Given the description of an element on the screen output the (x, y) to click on. 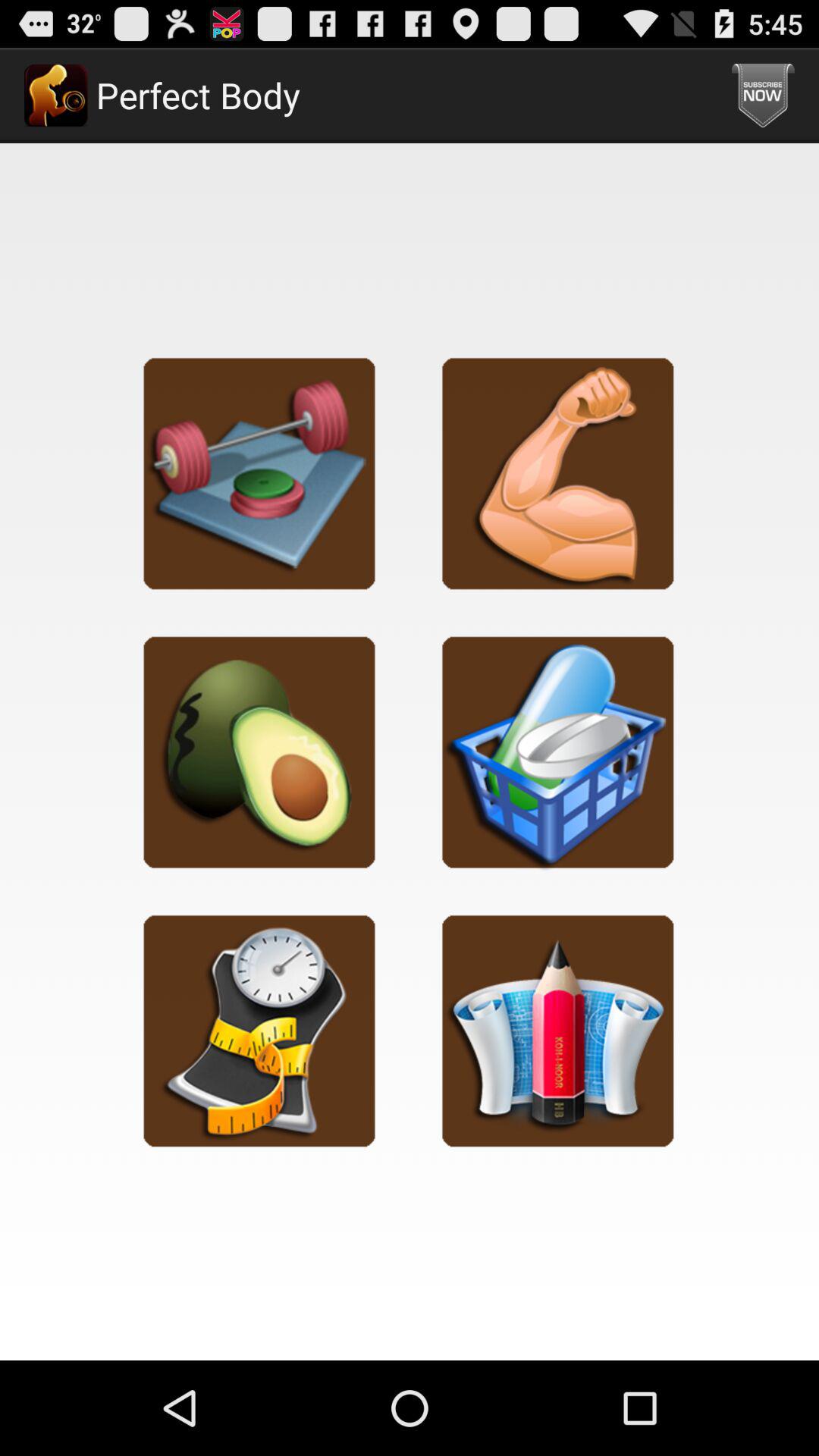
journal your progress (558, 1030)
